Given the description of an element on the screen output the (x, y) to click on. 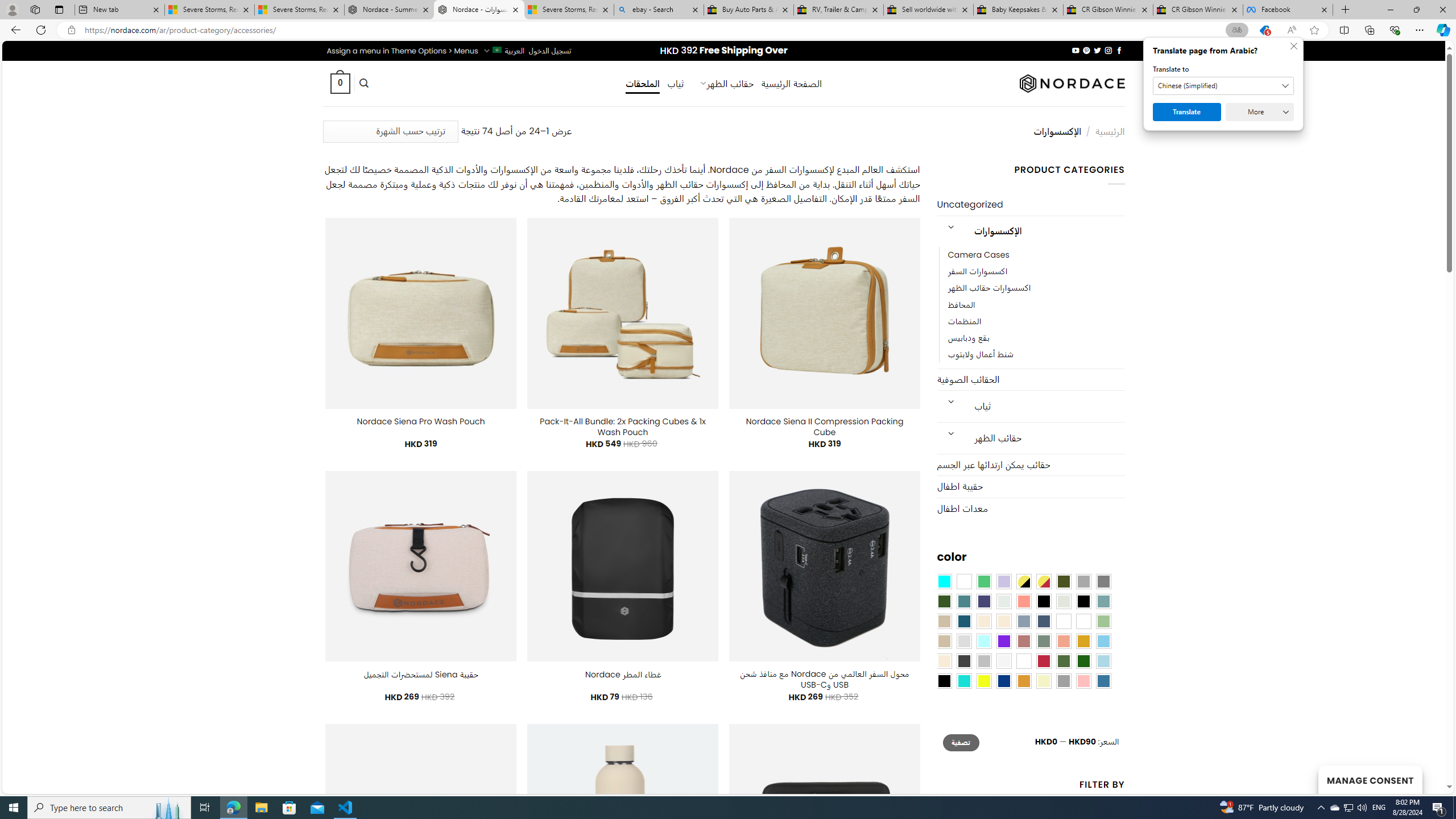
Purple (1003, 640)
Uncategorized (1030, 204)
Caramel (983, 621)
Facebook (1287, 9)
